Given the description of an element on the screen output the (x, y) to click on. 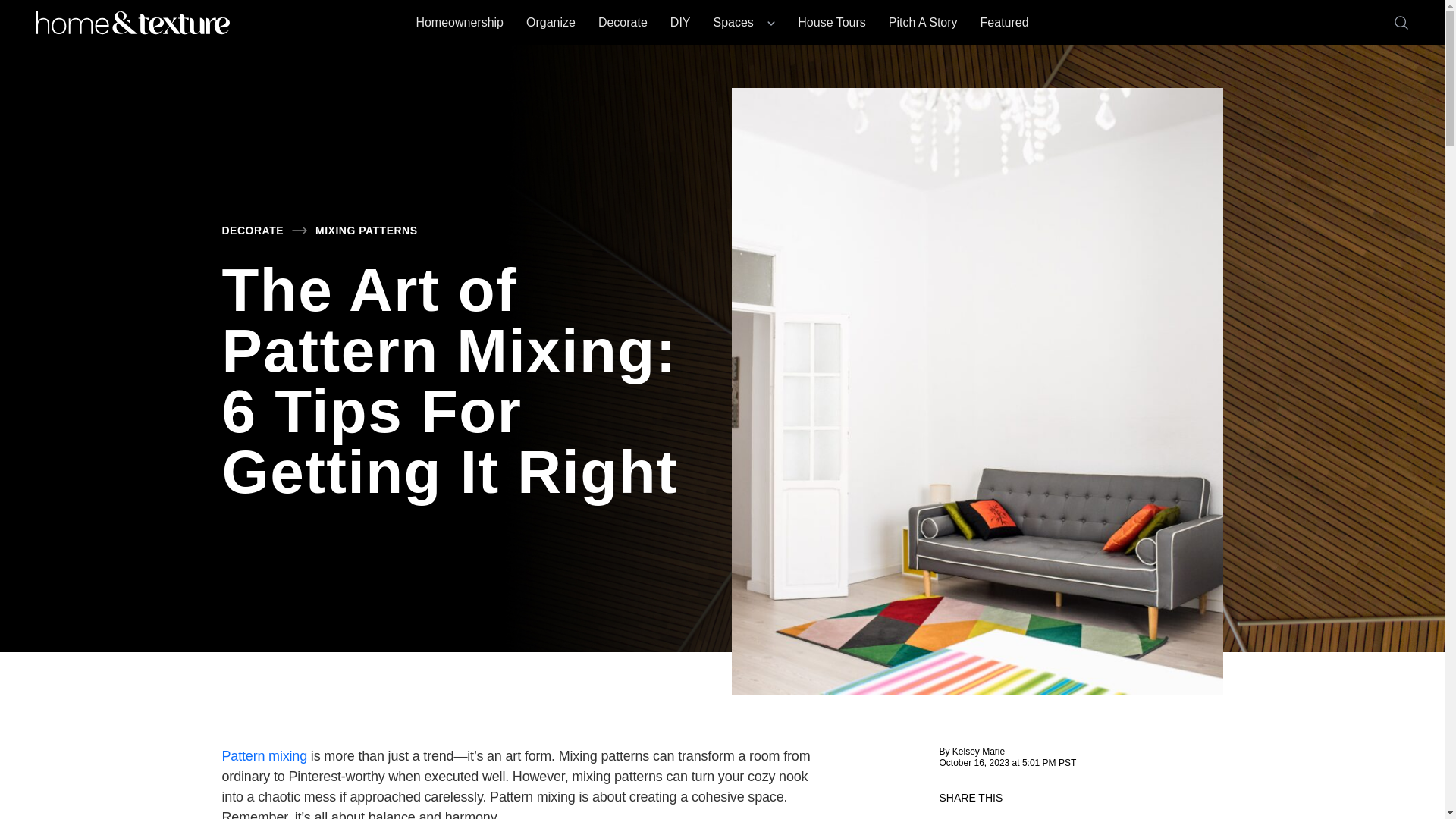
Organize (549, 22)
Pitch A Story (922, 22)
DIY (680, 22)
Spaces (743, 22)
Homeownership (459, 22)
Decorate (622, 22)
Featured (1004, 22)
House Tours (832, 22)
